Given the description of an element on the screen output the (x, y) to click on. 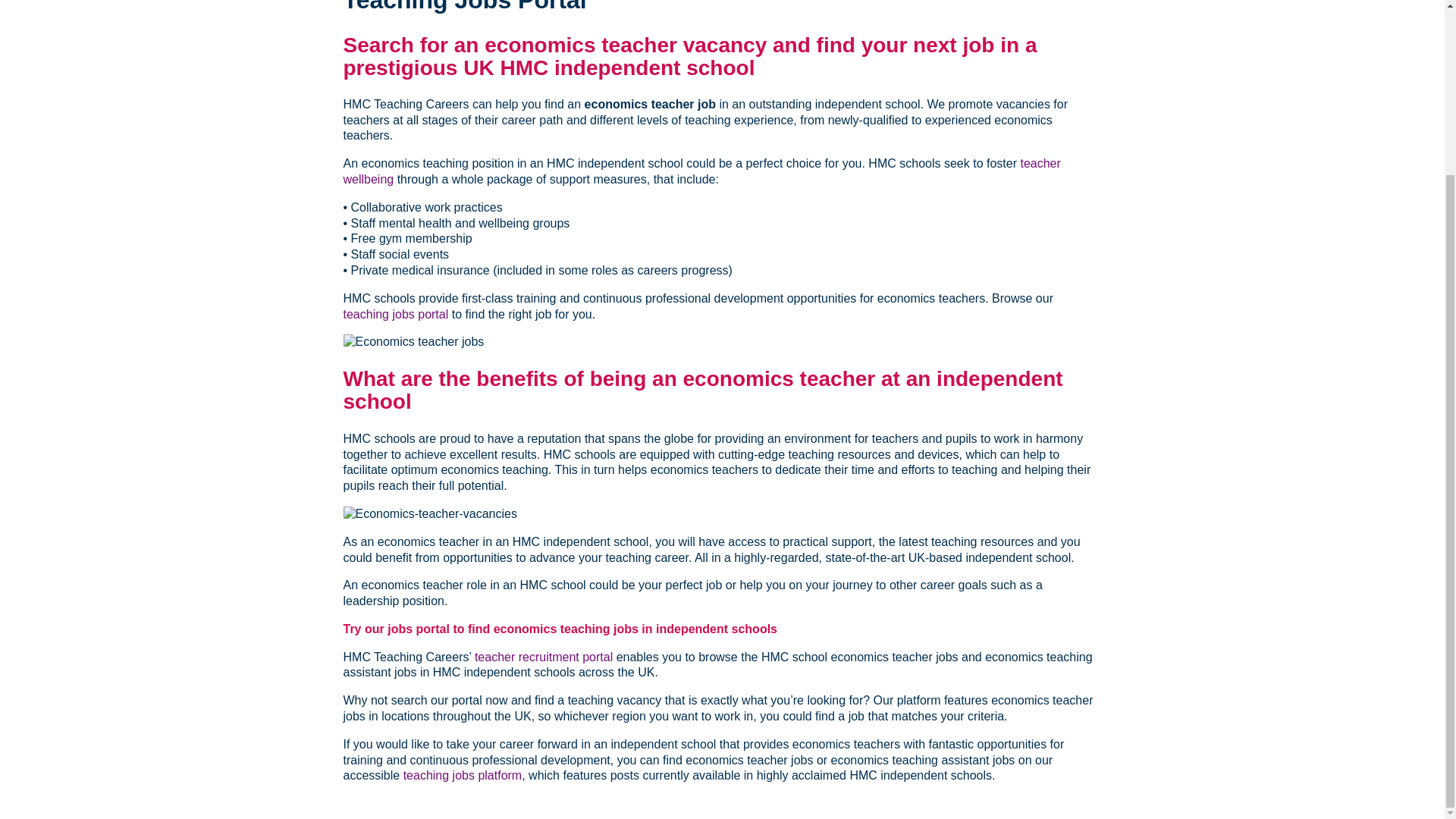
teacher recruitment portal (543, 656)
teaching jobs platform (462, 775)
teacher wellbeing (700, 171)
teaching jobs portal (395, 314)
